Given the description of an element on the screen output the (x, y) to click on. 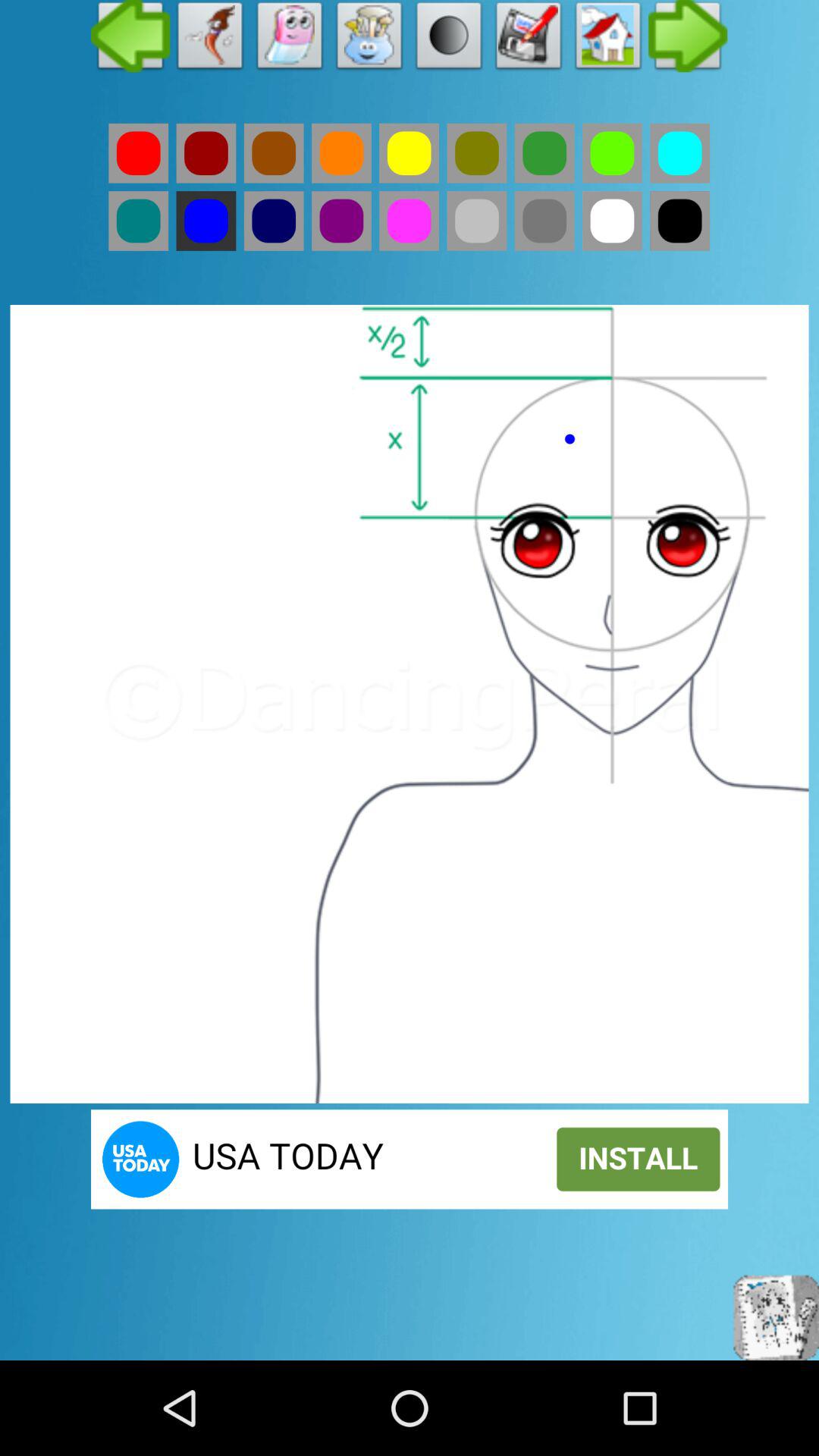
save image (528, 39)
